Given the description of an element on the screen output the (x, y) to click on. 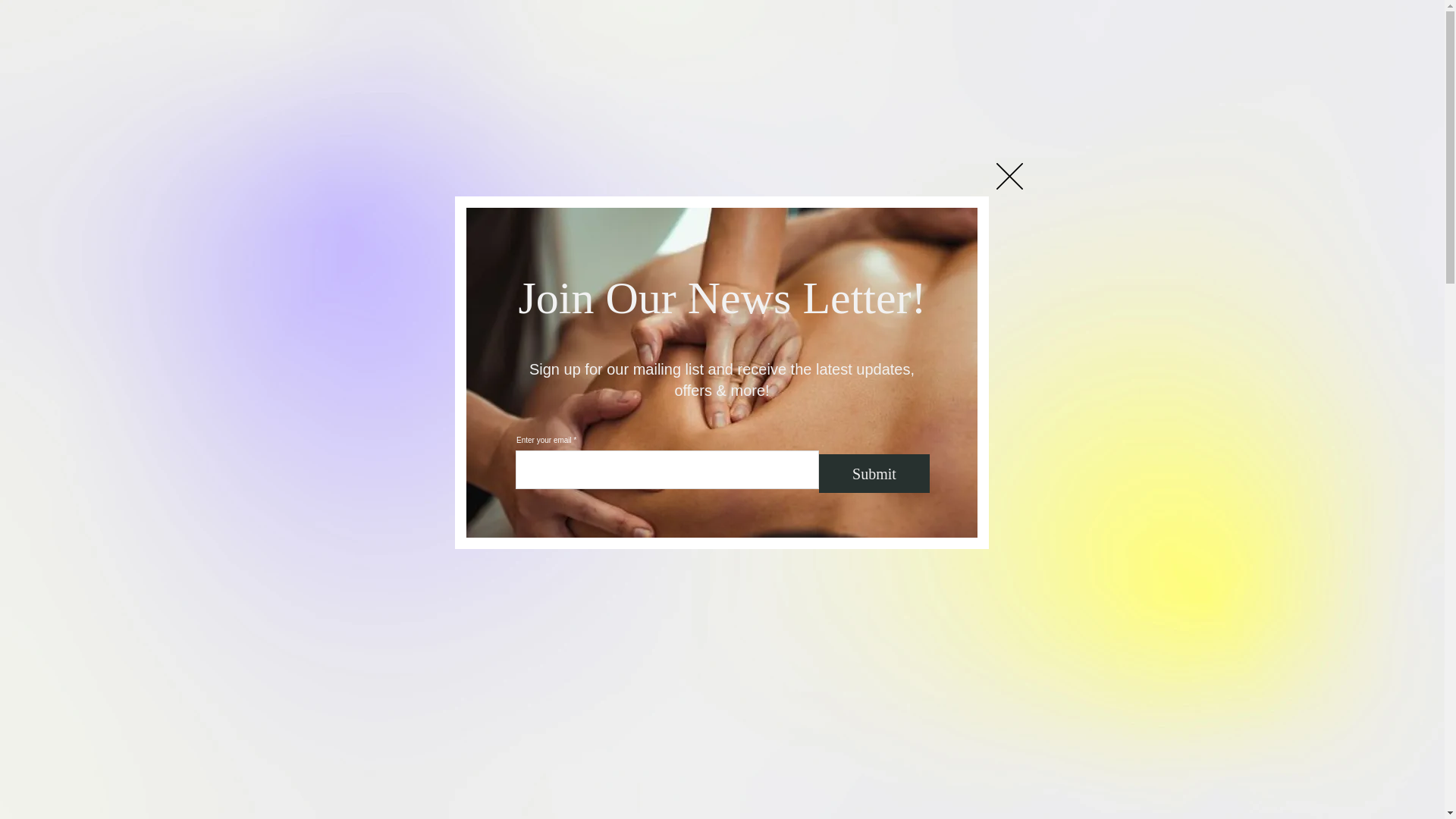
Back to site (1009, 175)
ABOUT (501, 25)
Apr 29, 2020 (516, 270)
BLOG (739, 25)
Liana Hayes (494, 184)
BOOK ONLINE (577, 25)
CONTACT (800, 25)
Log In (1052, 14)
All Posts (385, 80)
HOME (376, 25)
SERVICES (437, 25)
Apr 19, 2020 (592, 184)
Liana Hayes (499, 185)
INTAKE FORM (668, 25)
2 min read (662, 184)
